Given the description of an element on the screen output the (x, y) to click on. 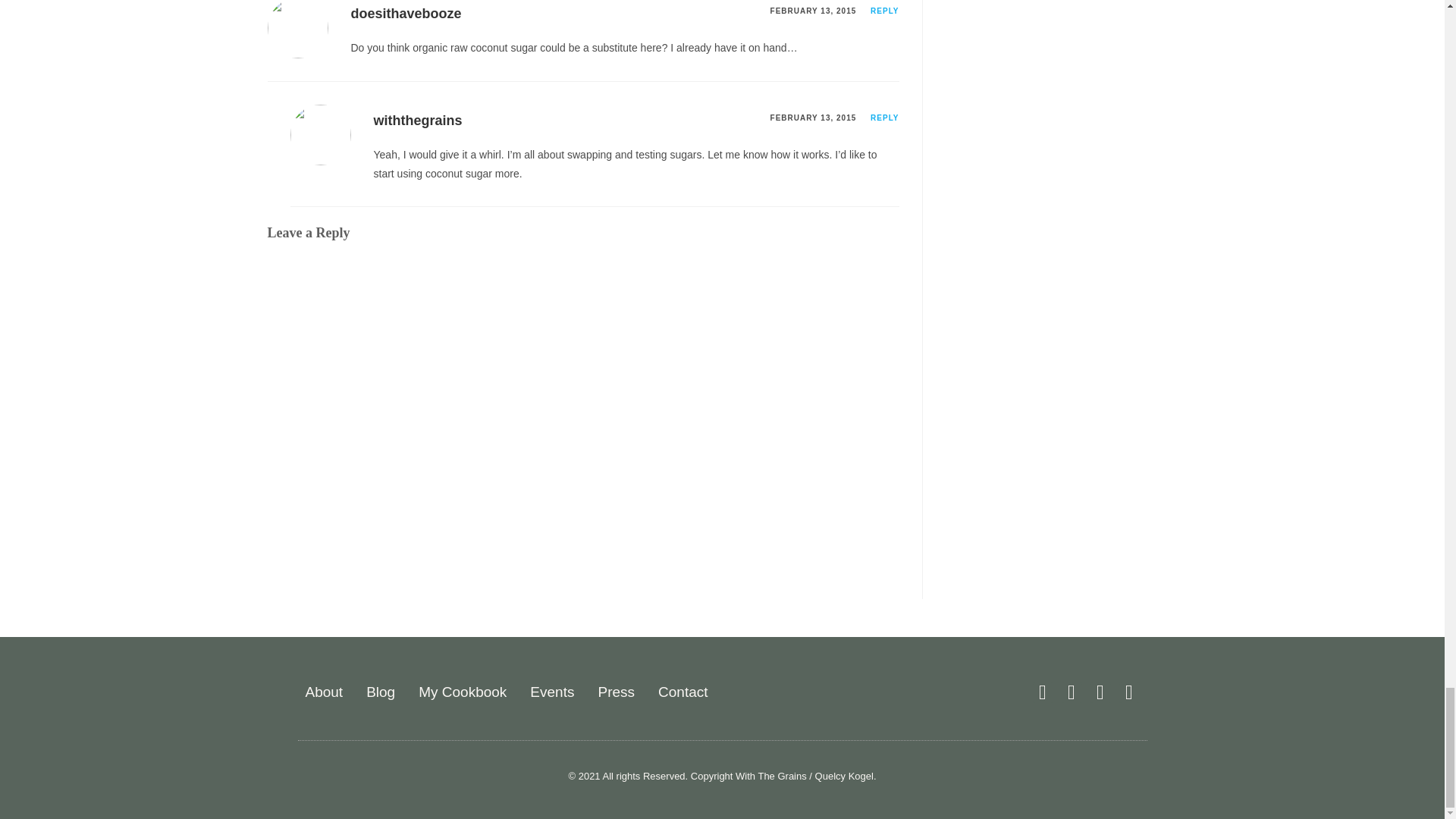
withthegrains (416, 120)
doesithavebooze (405, 13)
REPLY (884, 10)
